Given the description of an element on the screen output the (x, y) to click on. 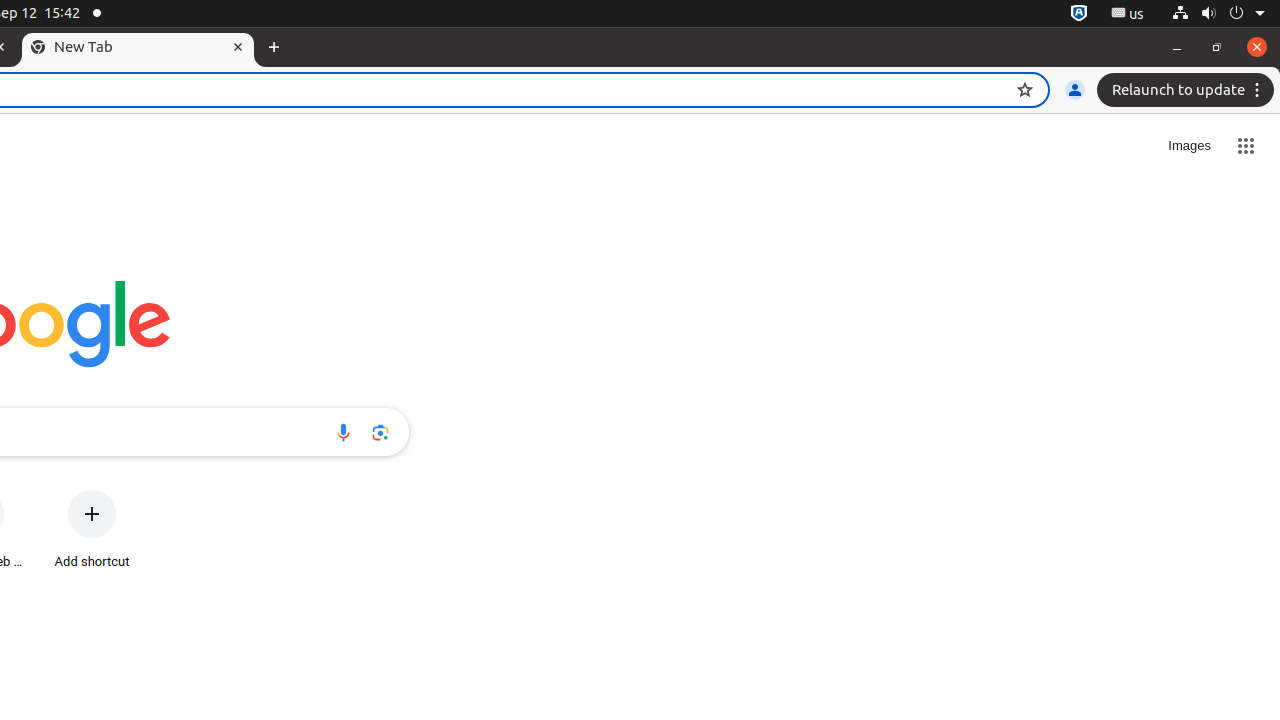
You Element type: push-button (1075, 90)
Relaunch to update Element type: push-button (1188, 90)
More actions for Chrome Web Store shortcut Element type: push-button (20, 491)
Search for Images  Element type: link (1189, 146)
Search by voice Element type: push-button (343, 432)
